Given the description of an element on the screen output the (x, y) to click on. 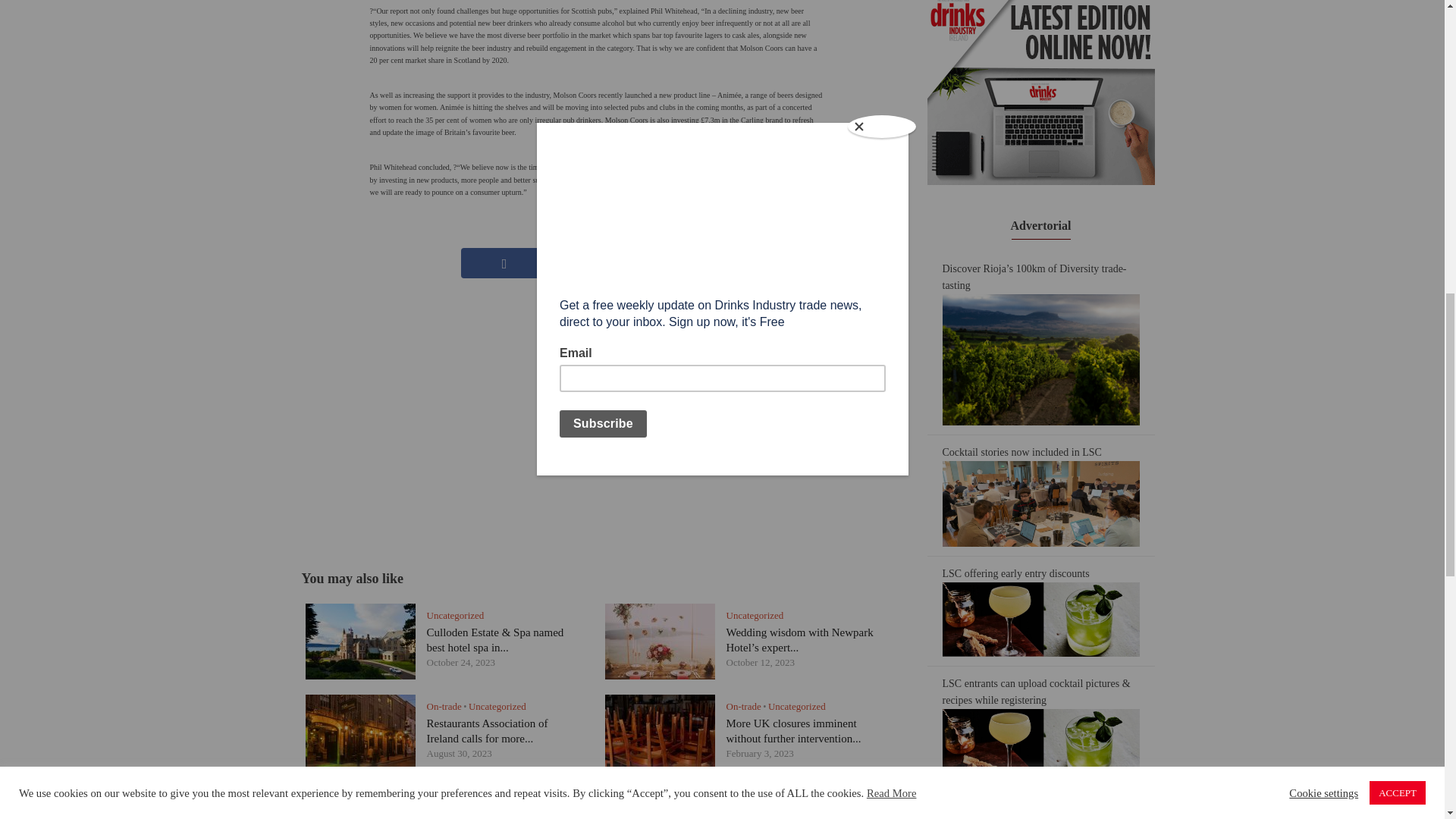
Bars show largest October monthly sales growth (785, 816)
Advertisement (597, 407)
Licensed Wisdom XXI (478, 816)
